Given the description of an element on the screen output the (x, y) to click on. 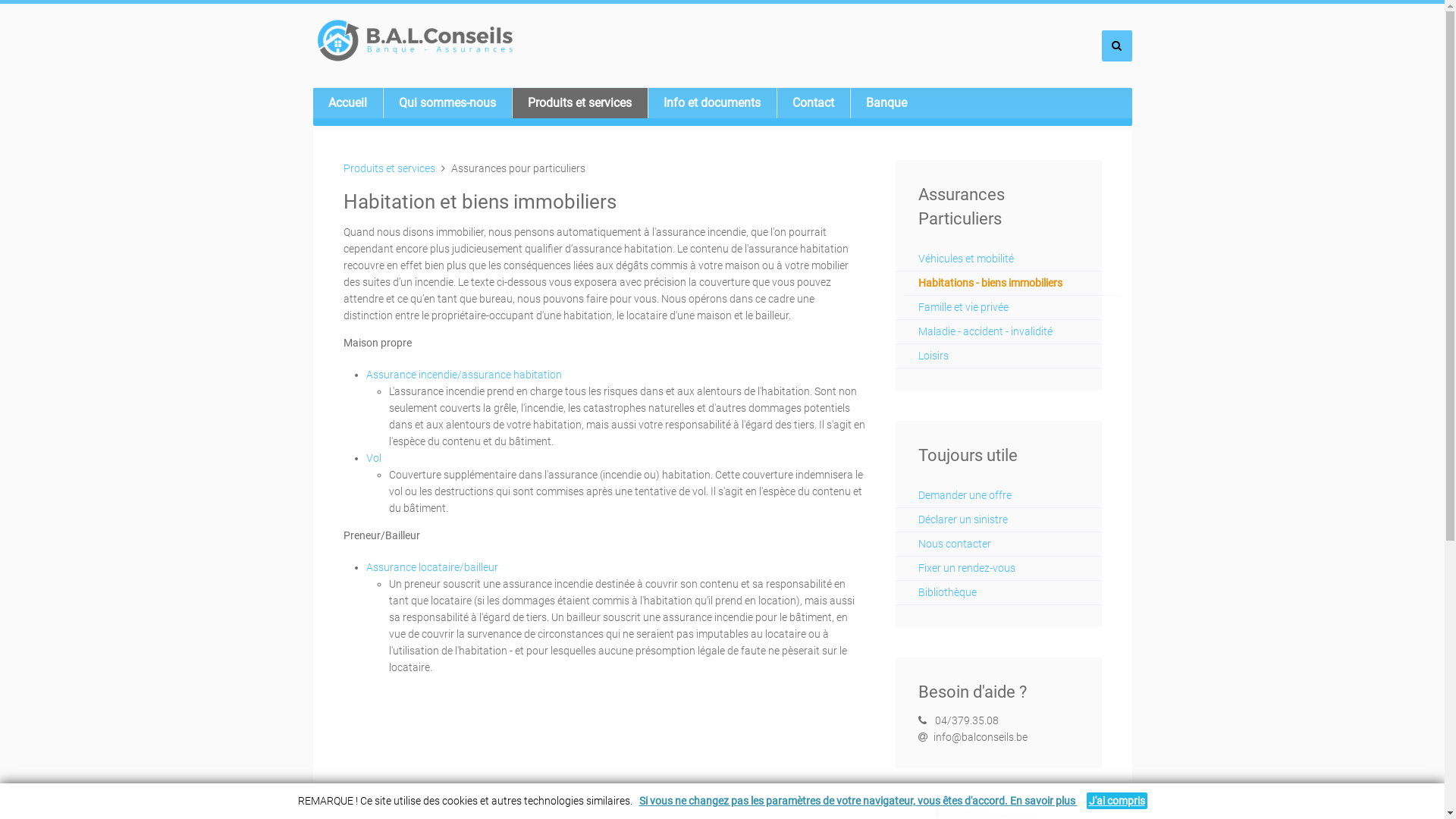
Fixer un rendez-vous Element type: text (997, 567)
info@balconseils.be Element type: text (979, 737)
Demander une offre Element type: text (997, 495)
Contact Element type: text (813, 102)
Loisirs Element type: text (997, 355)
Accueil Element type: text (347, 102)
Assurance locataire/bailleur Element type: text (431, 567)
Produits et services Element type: text (388, 168)
Vol Element type: text (372, 457)
Banque Element type: text (885, 102)
Assurance incendie/assurance habitation Element type: text (463, 374)
Qui sommes-nous Element type: text (446, 102)
Habitations - biens immobiliers Element type: text (1010, 282)
Info et documents Element type: text (711, 102)
Produits et services Element type: text (578, 102)
Nous contacter Element type: text (997, 543)
